Given the description of an element on the screen output the (x, y) to click on. 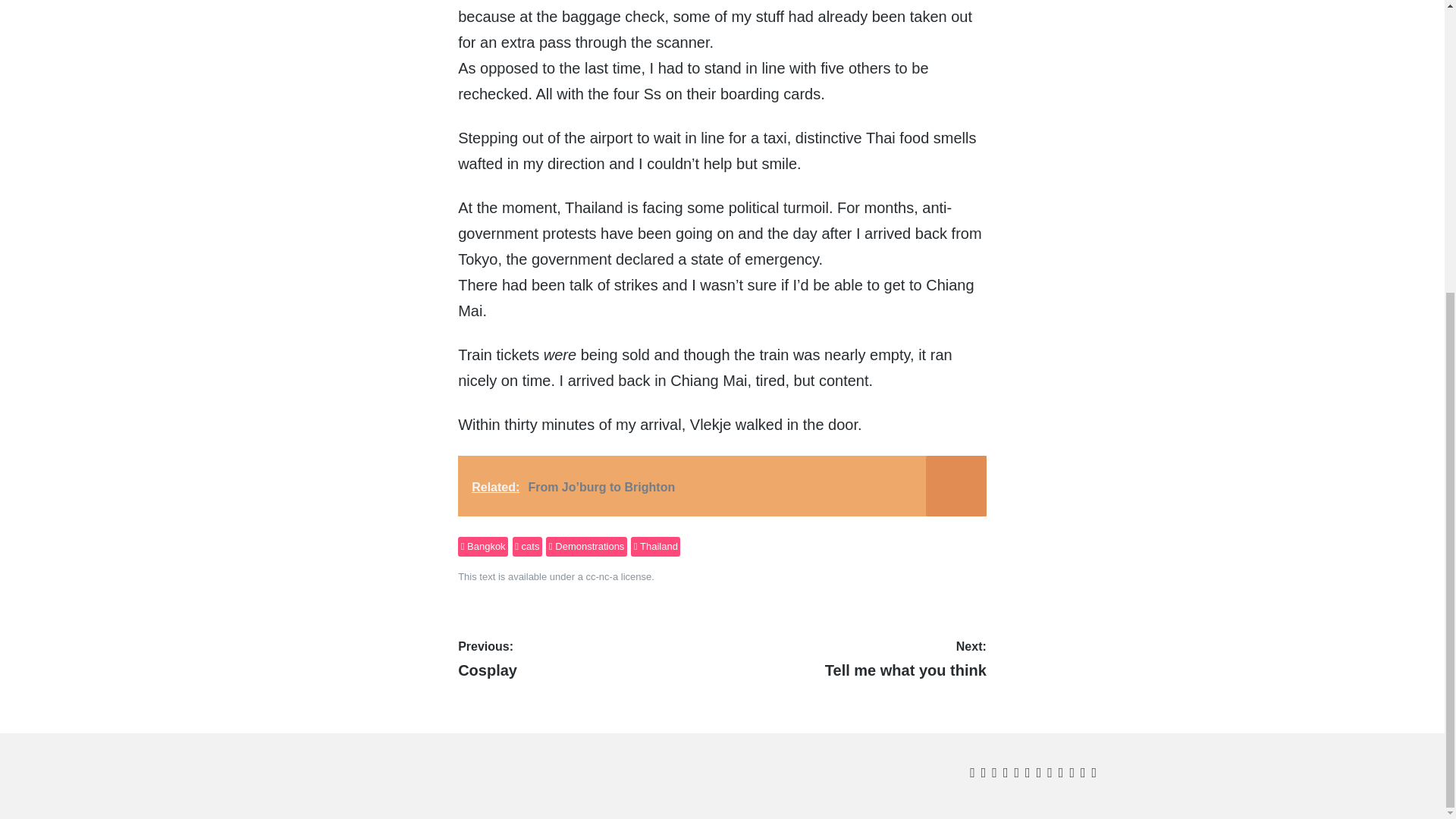
 Thailand (654, 546)
This text is available under a cc-nc-a license. (555, 576)
 Demonstrations (855, 659)
 Bangkok (586, 546)
 cats (483, 546)
